Given the description of an element on the screen output the (x, y) to click on. 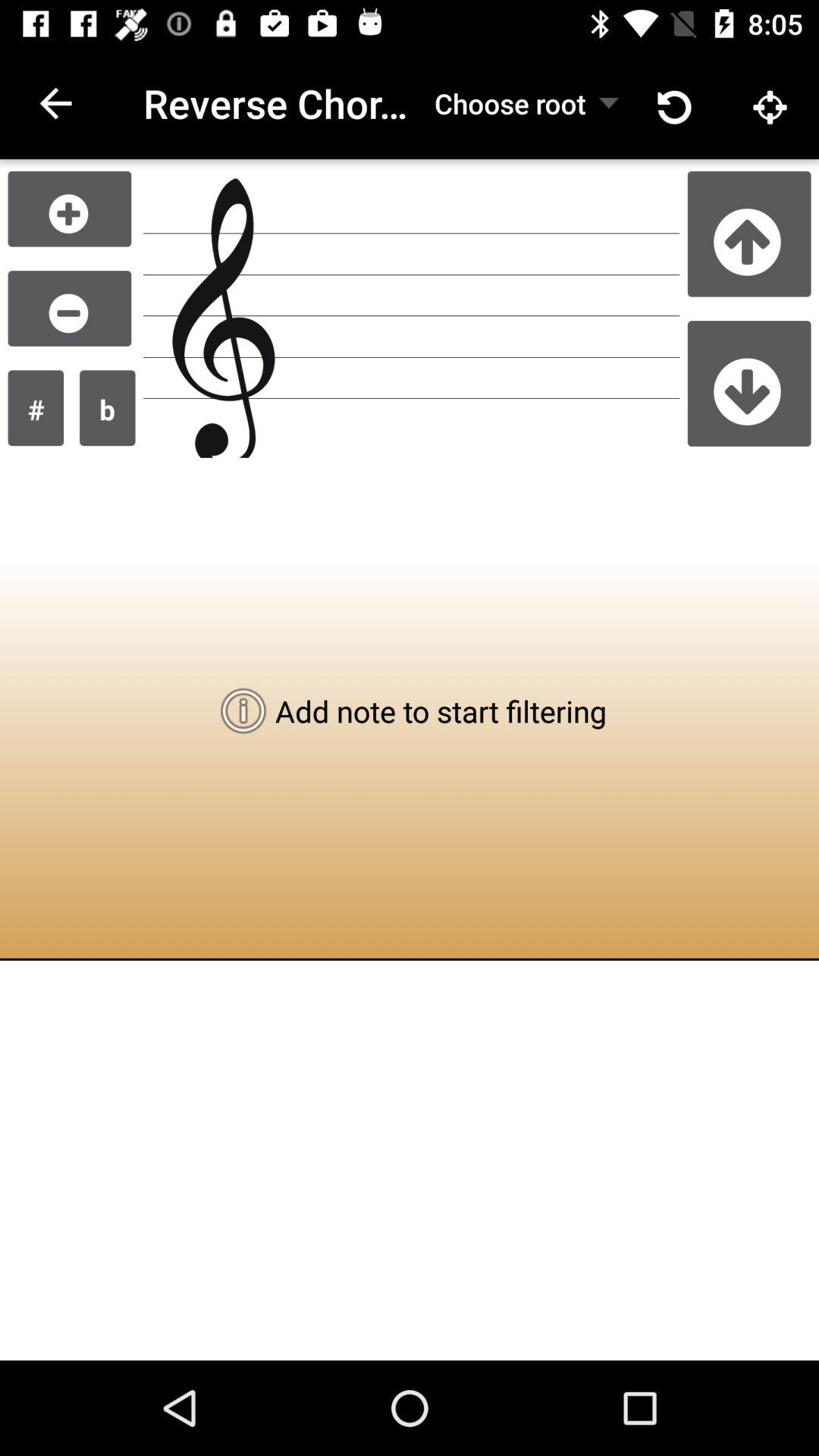
adjust lower (69, 308)
